Given the description of an element on the screen output the (x, y) to click on. 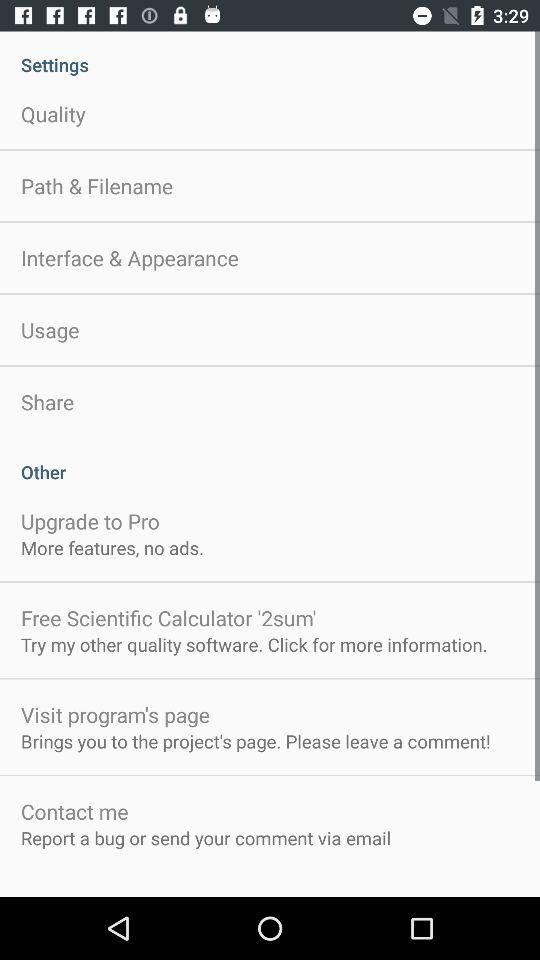
launch app below upgrade to pro icon (112, 547)
